Given the description of an element on the screen output the (x, y) to click on. 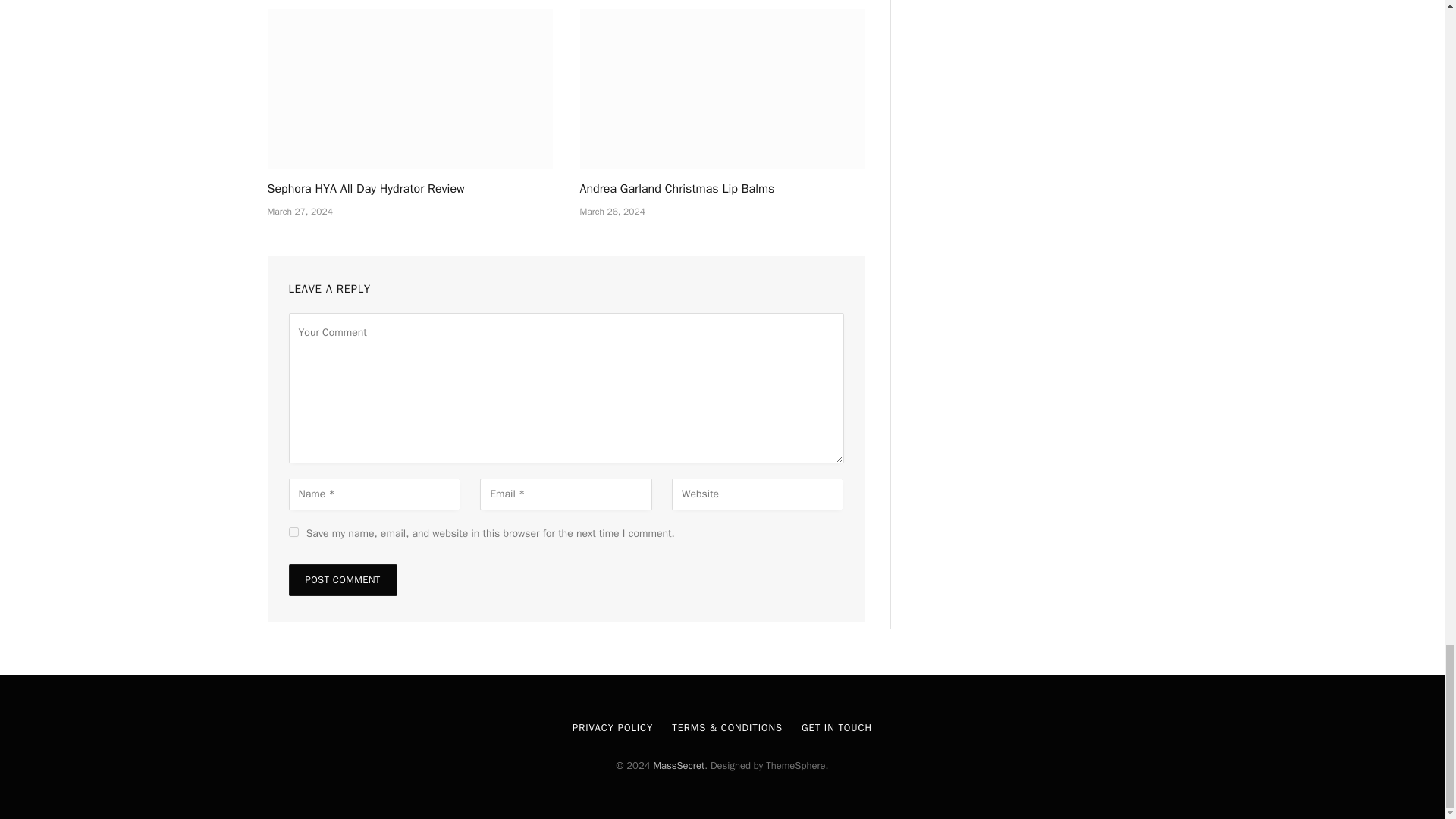
Post Comment (342, 580)
yes (293, 532)
